Given the description of an element on the screen output the (x, y) to click on. 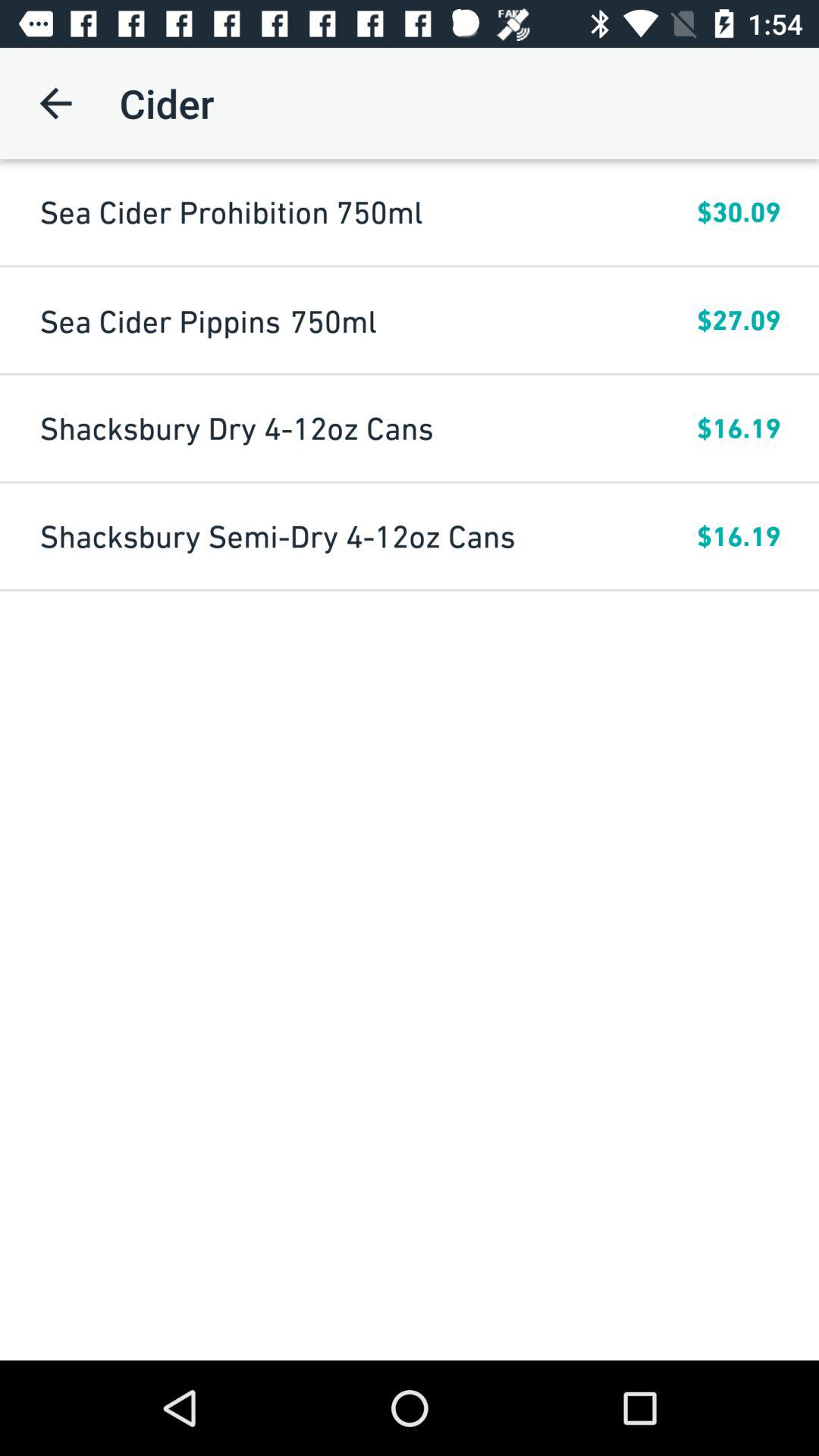
click icon next to the cider item (55, 103)
